Given the description of an element on the screen output the (x, y) to click on. 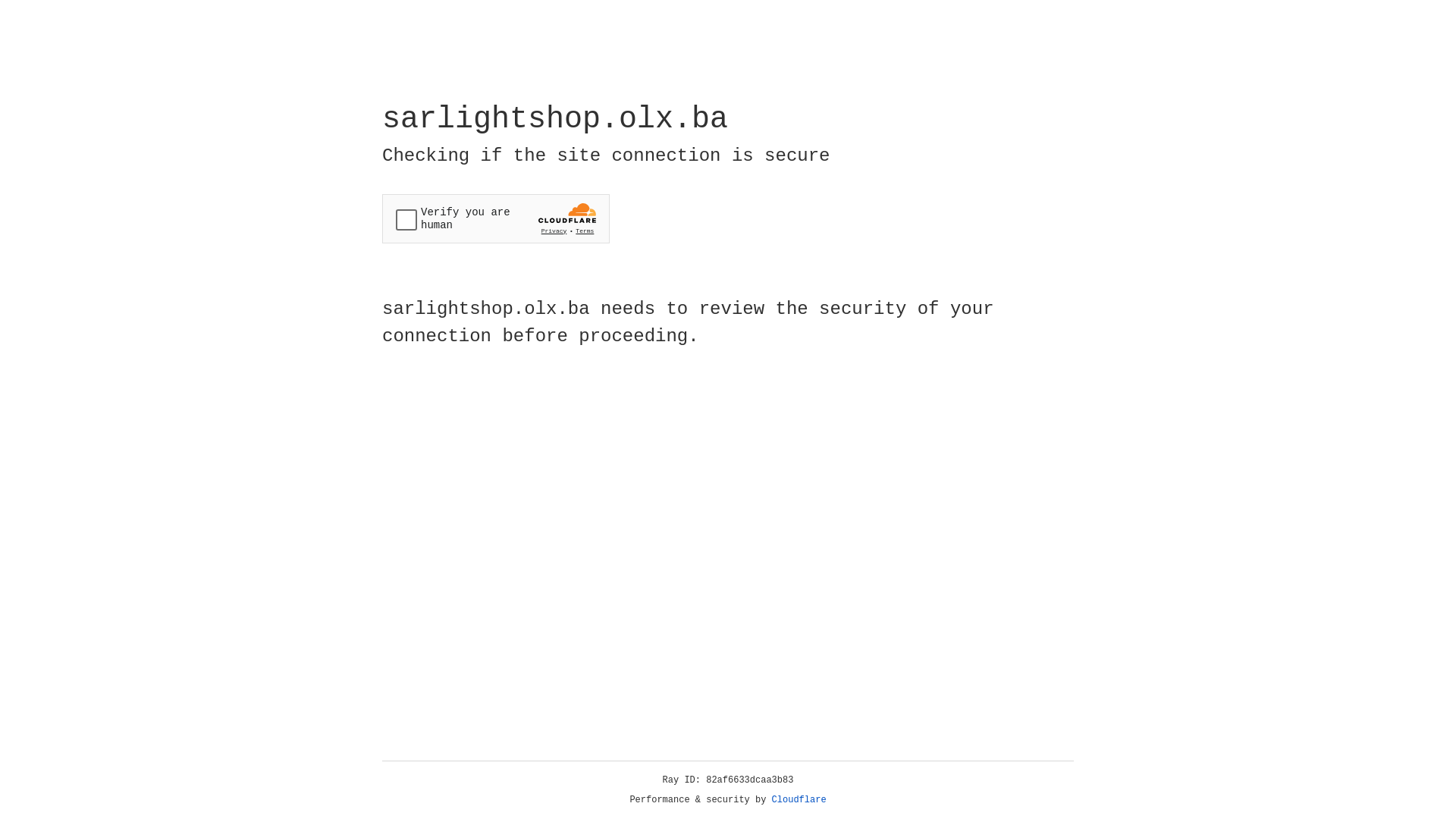
Cloudflare Element type: text (798, 799)
Widget containing a Cloudflare security challenge Element type: hover (495, 218)
